Given the description of an element on the screen output the (x, y) to click on. 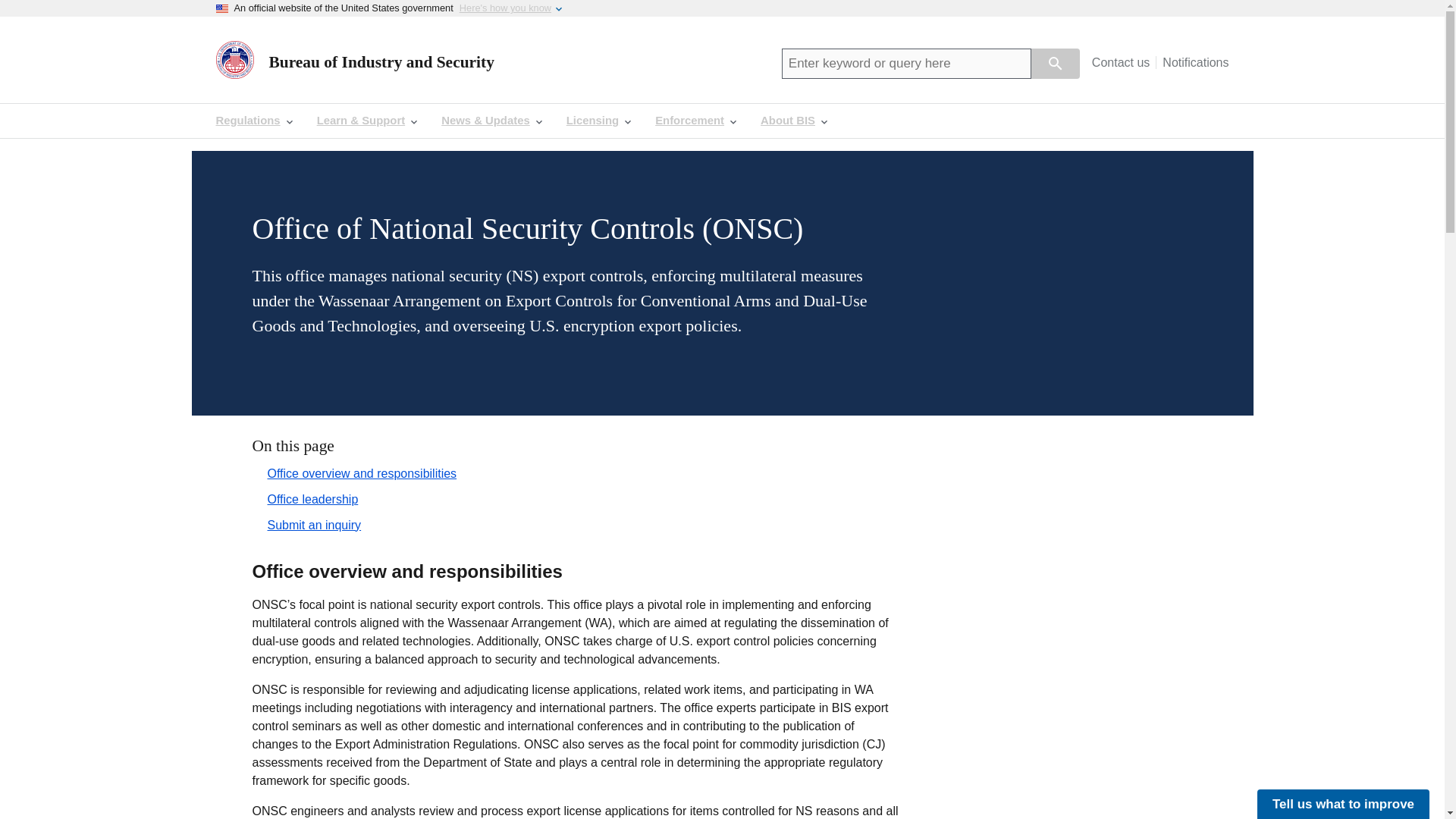
Bureau of Industry and Security (380, 63)
Office leadership (306, 499)
Licensing (598, 121)
Here's how you know (505, 8)
Notifications (1192, 62)
Contact us (1124, 62)
Regulations (253, 121)
Submit an inquiry (307, 524)
Enforcement (695, 121)
Office overview and responsibilities (355, 472)
